Given the description of an element on the screen output the (x, y) to click on. 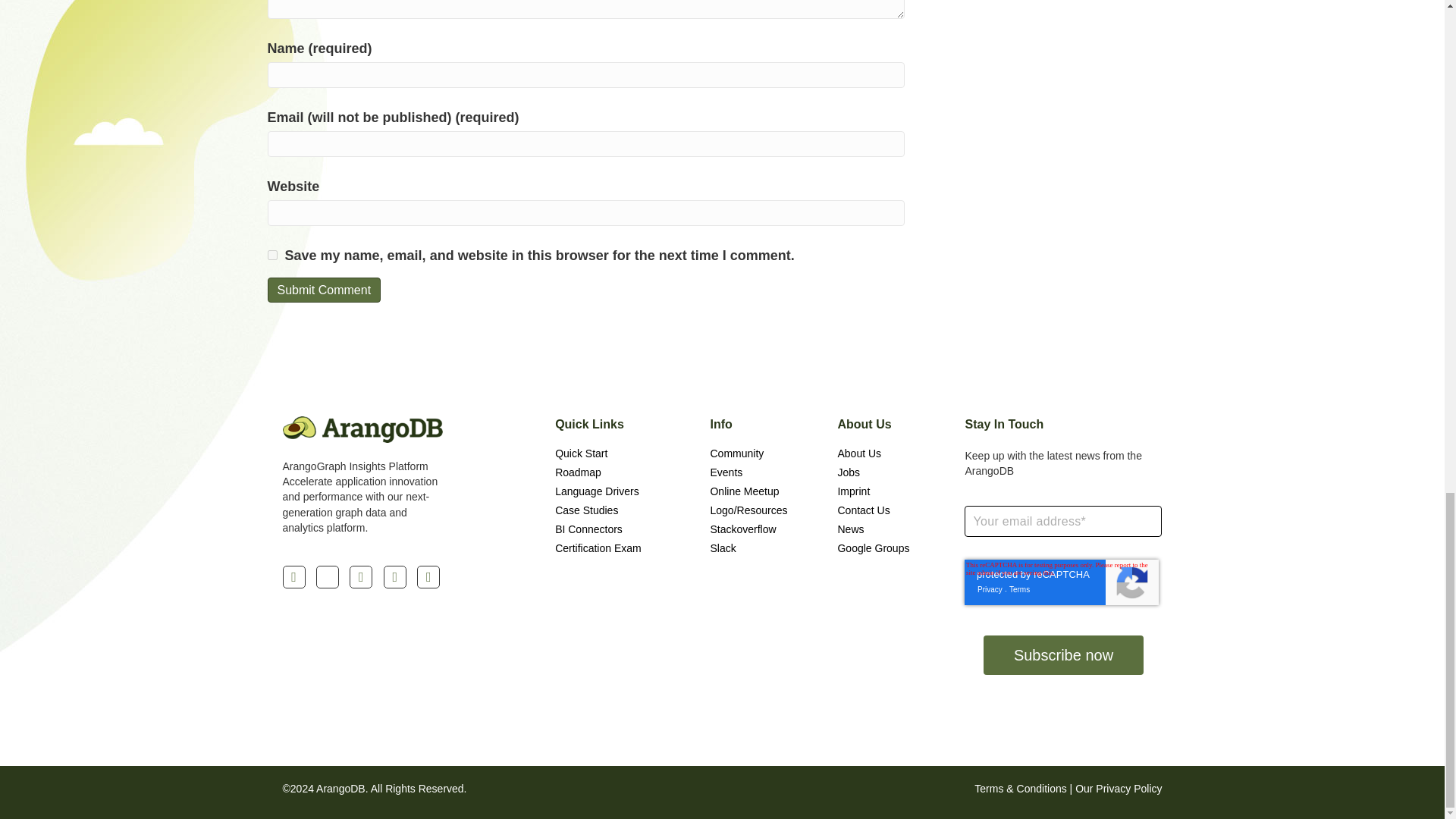
reCAPTCHA (1060, 582)
Submit Comment (323, 289)
yes (271, 255)
logo (362, 429)
Subscribe now (1063, 654)
